Given the description of an element on the screen output the (x, y) to click on. 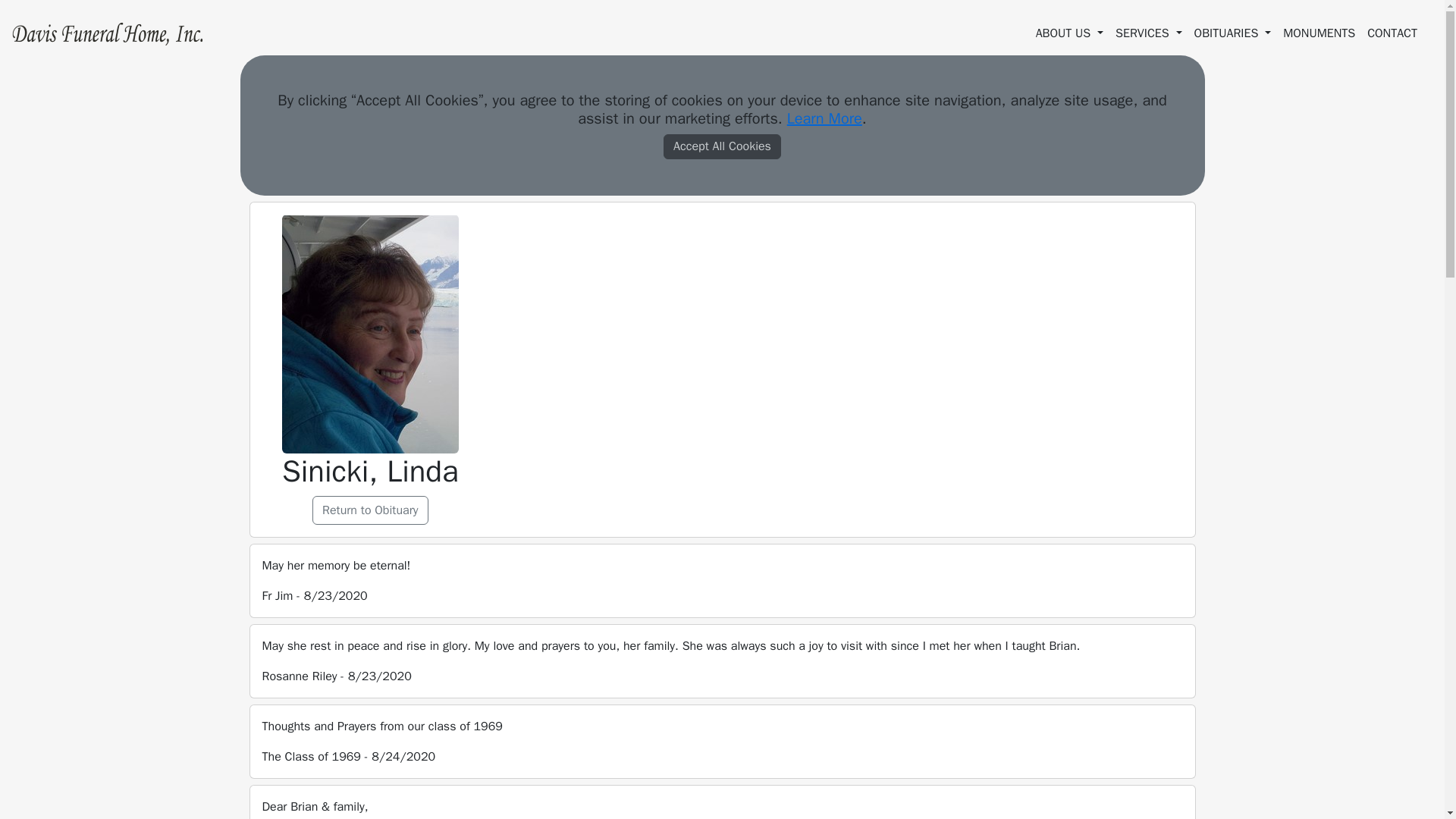
Accept All Cookies (721, 146)
CONTACT (1392, 33)
SERVICES (1148, 33)
OBITUARIES (1233, 33)
Learn More (824, 117)
MONUMENTS (1318, 33)
Return to Obituary (370, 510)
ABOUT US (1069, 33)
